Given the description of an element on the screen output the (x, y) to click on. 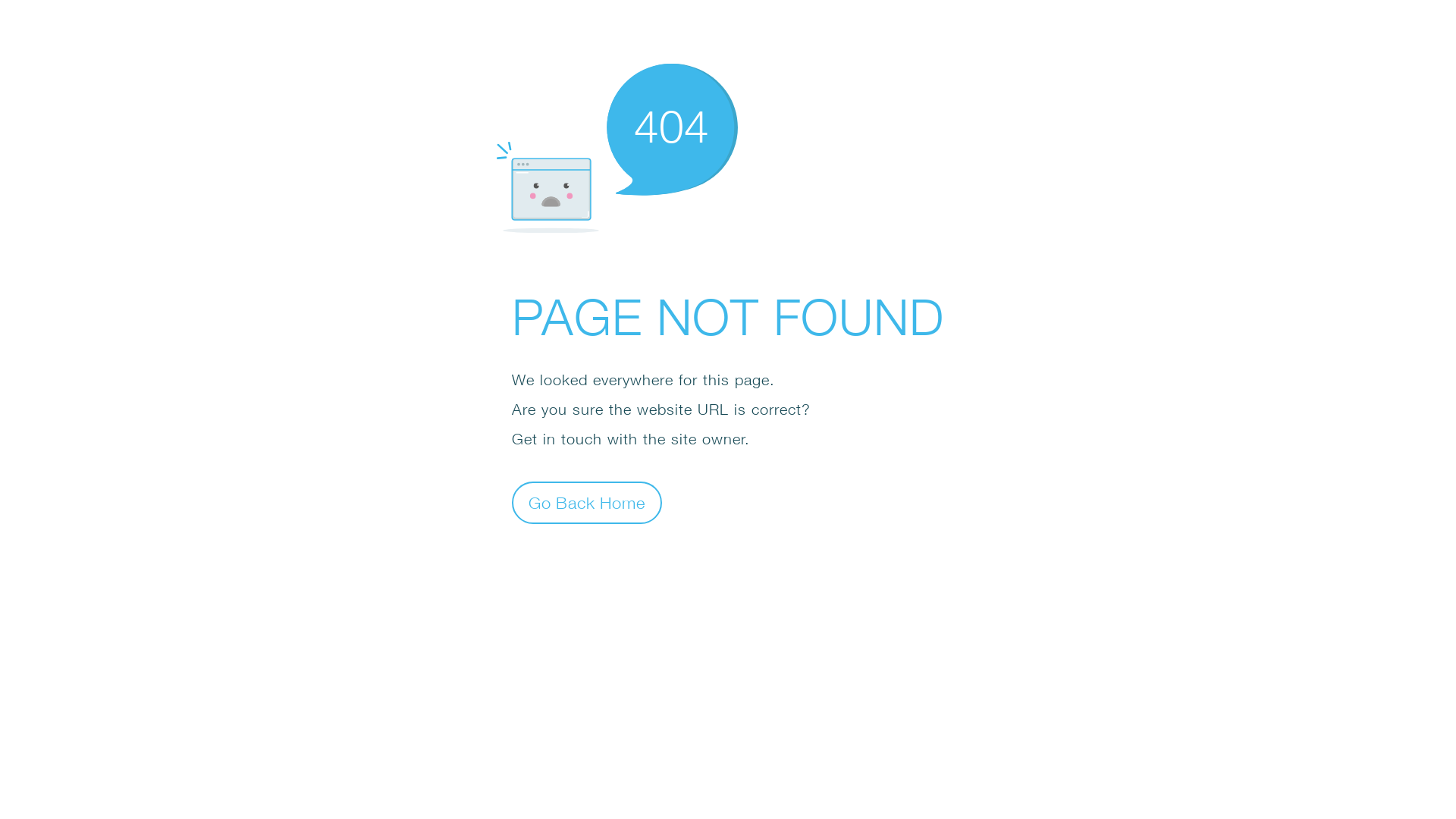
Go Back Home Element type: text (586, 502)
